Given the description of an element on the screen output the (x, y) to click on. 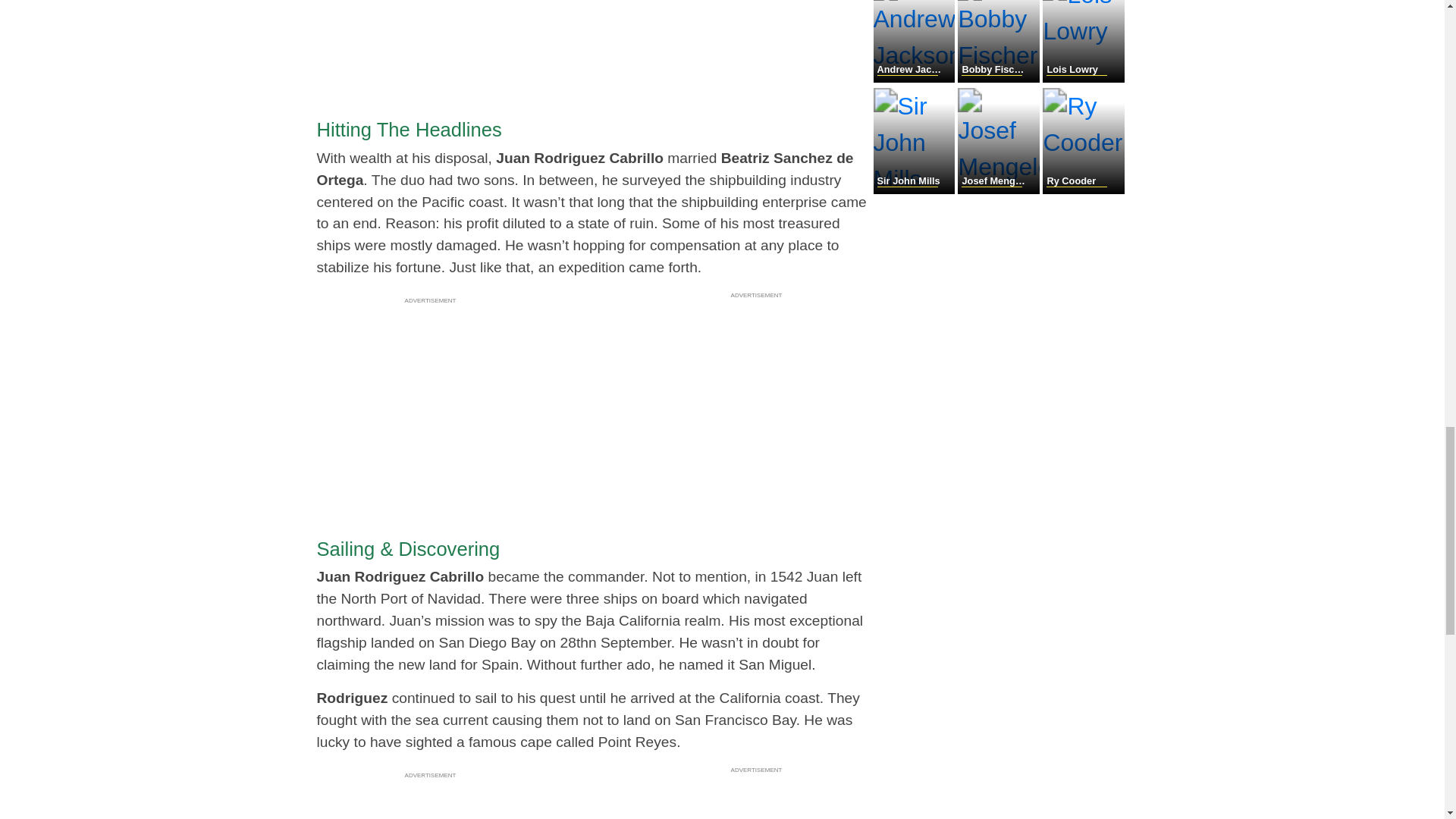
Sir John Mills (915, 189)
Lois Lowry (1083, 78)
Josef Mengele (1000, 189)
Bobby Fischer (1000, 78)
Andrew Jackson (915, 78)
Ry Cooder (1083, 189)
